Given the description of an element on the screen output the (x, y) to click on. 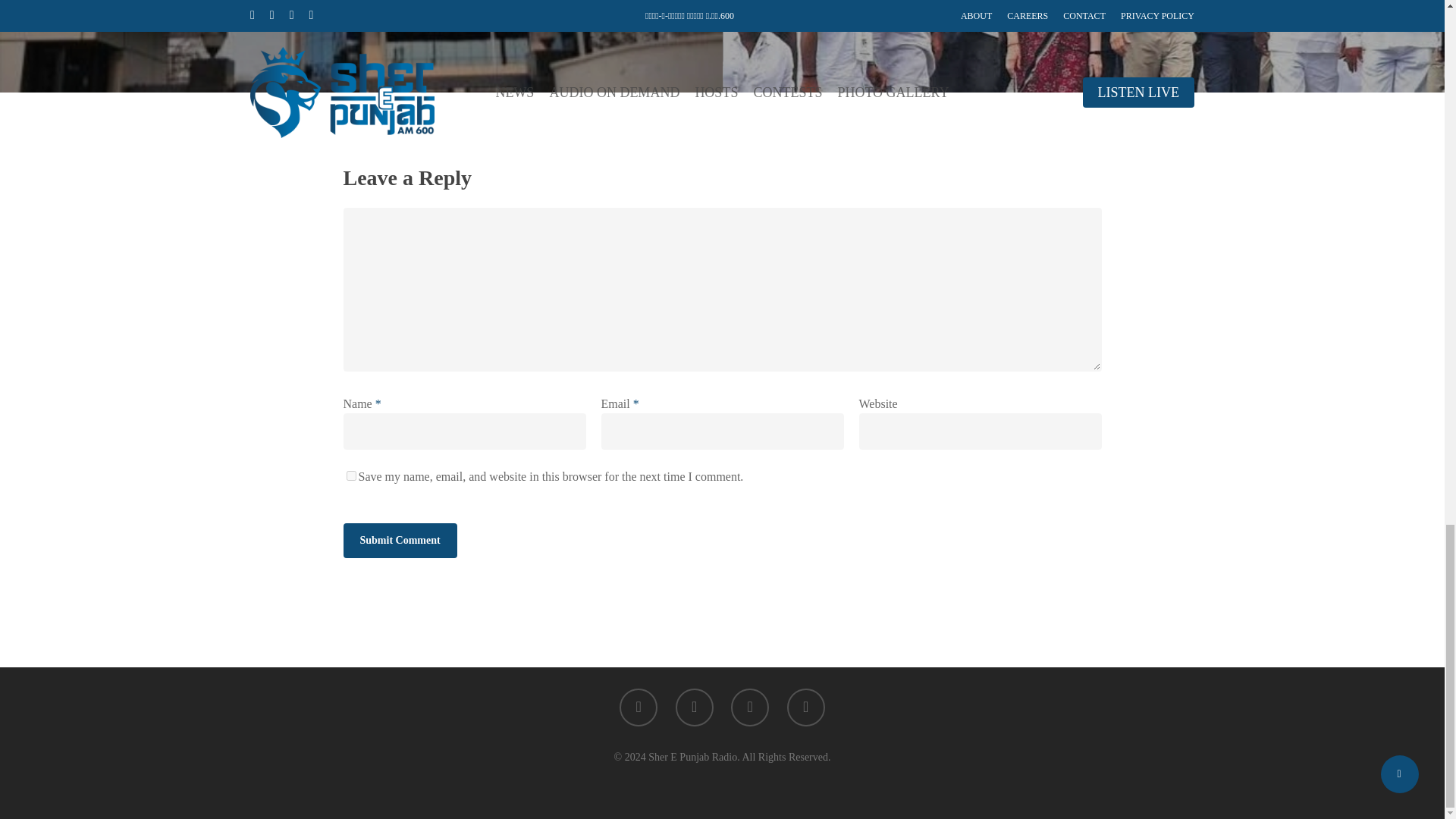
Submit Comment (399, 540)
yes (350, 475)
Submit Comment (399, 540)
